Given the description of an element on the screen output the (x, y) to click on. 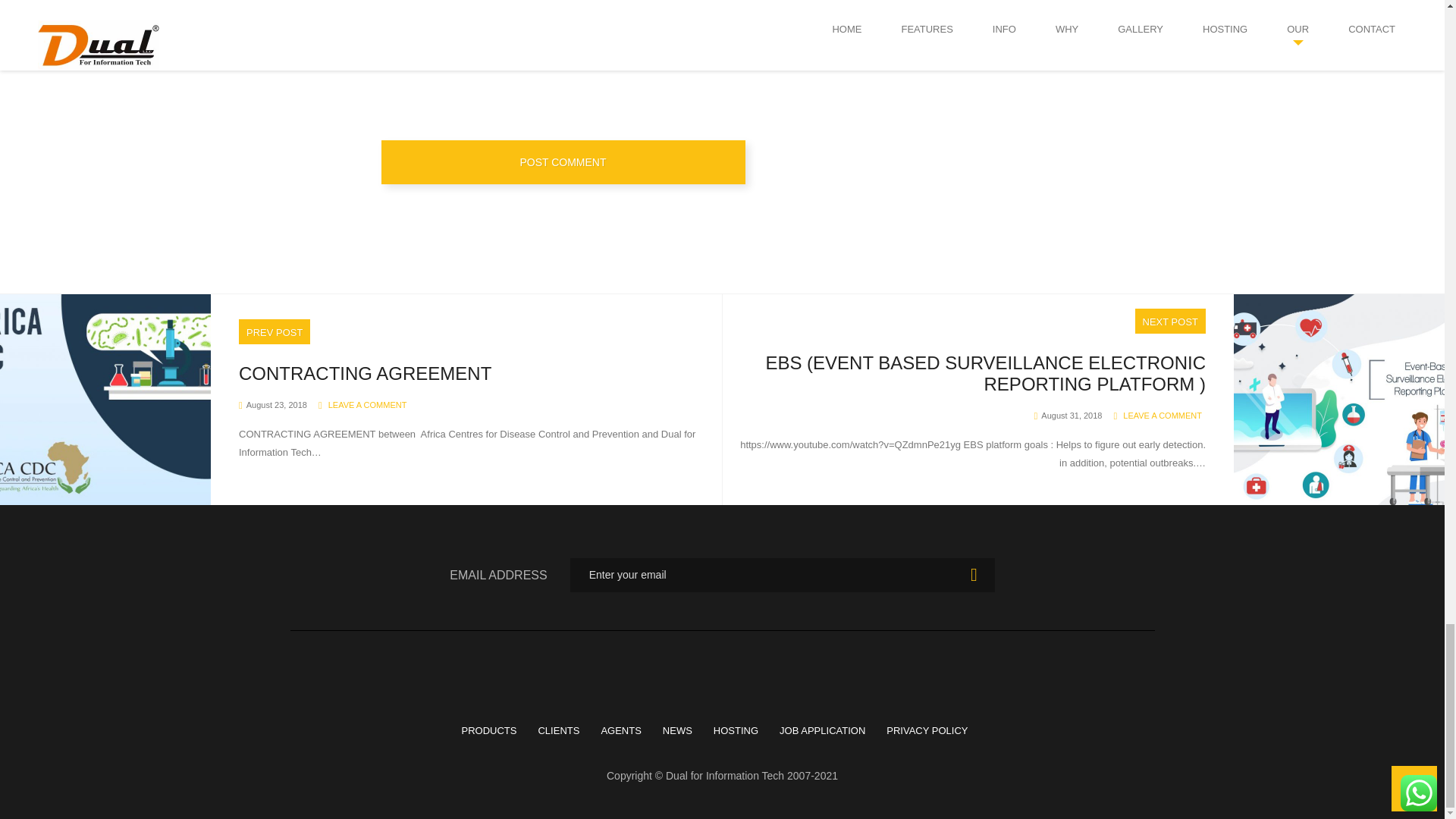
Post Comment (562, 162)
